Given the description of an element on the screen output the (x, y) to click on. 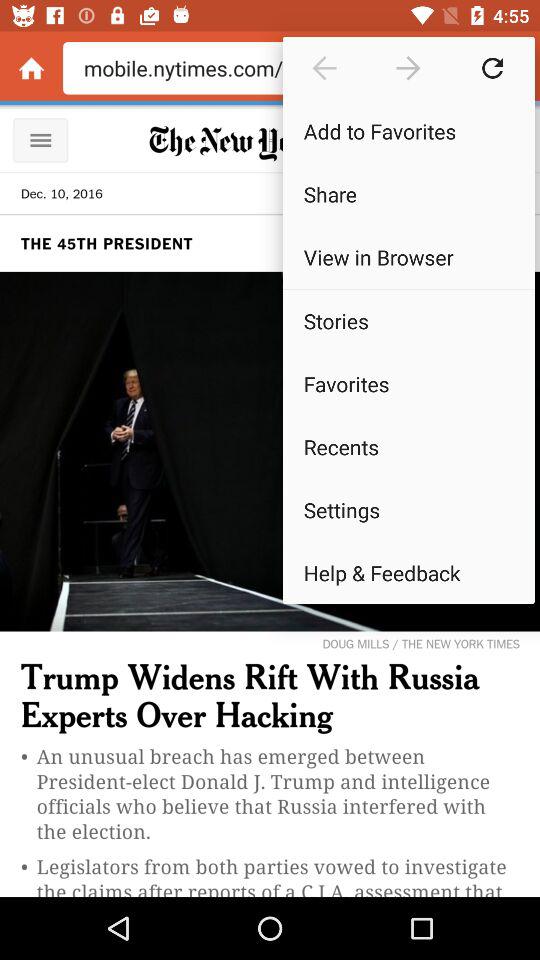
turn on the share icon (408, 193)
